Given the description of an element on the screen output the (x, y) to click on. 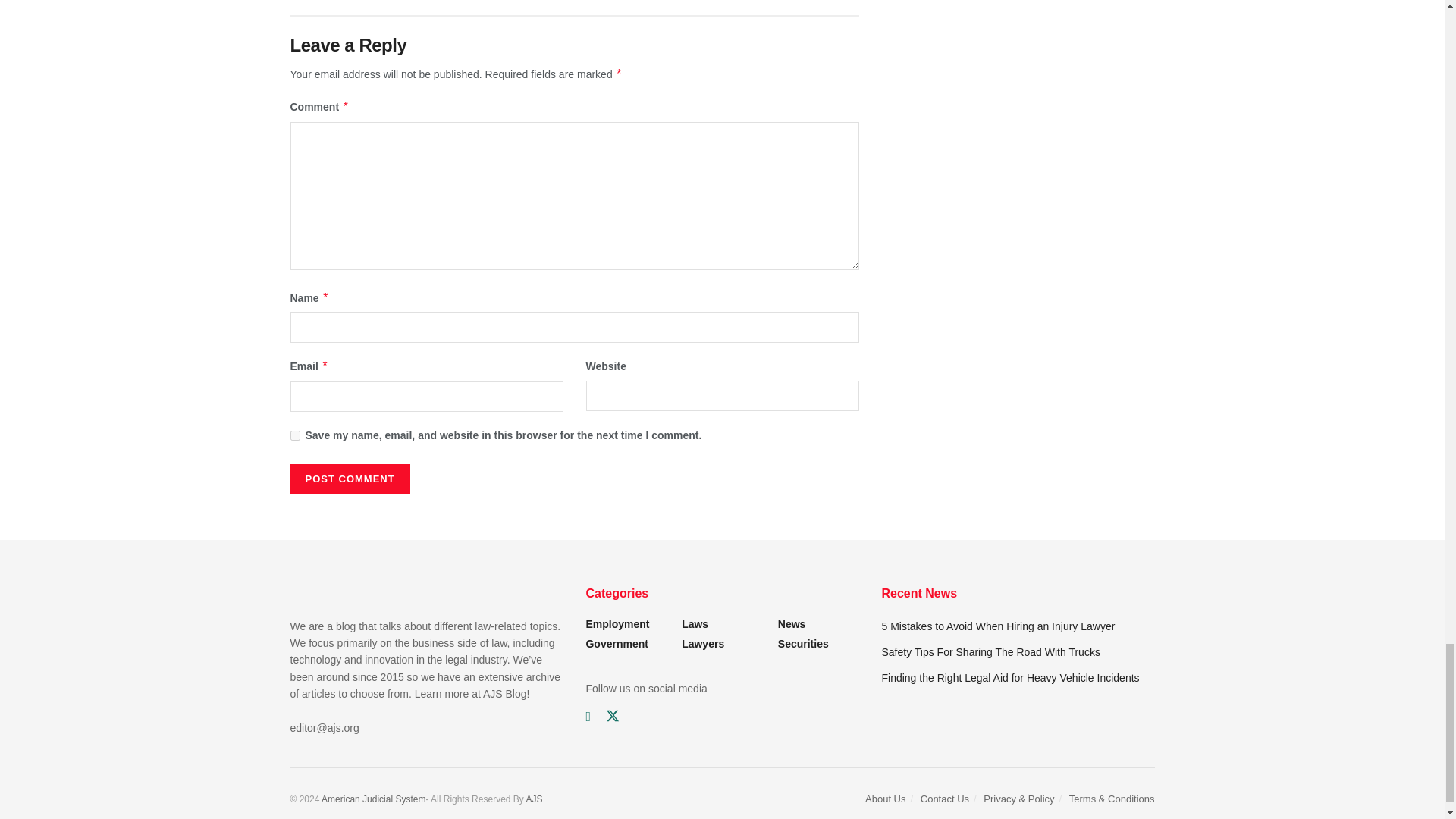
Post Comment (349, 479)
yes (294, 435)
